Given the description of an element on the screen output the (x, y) to click on. 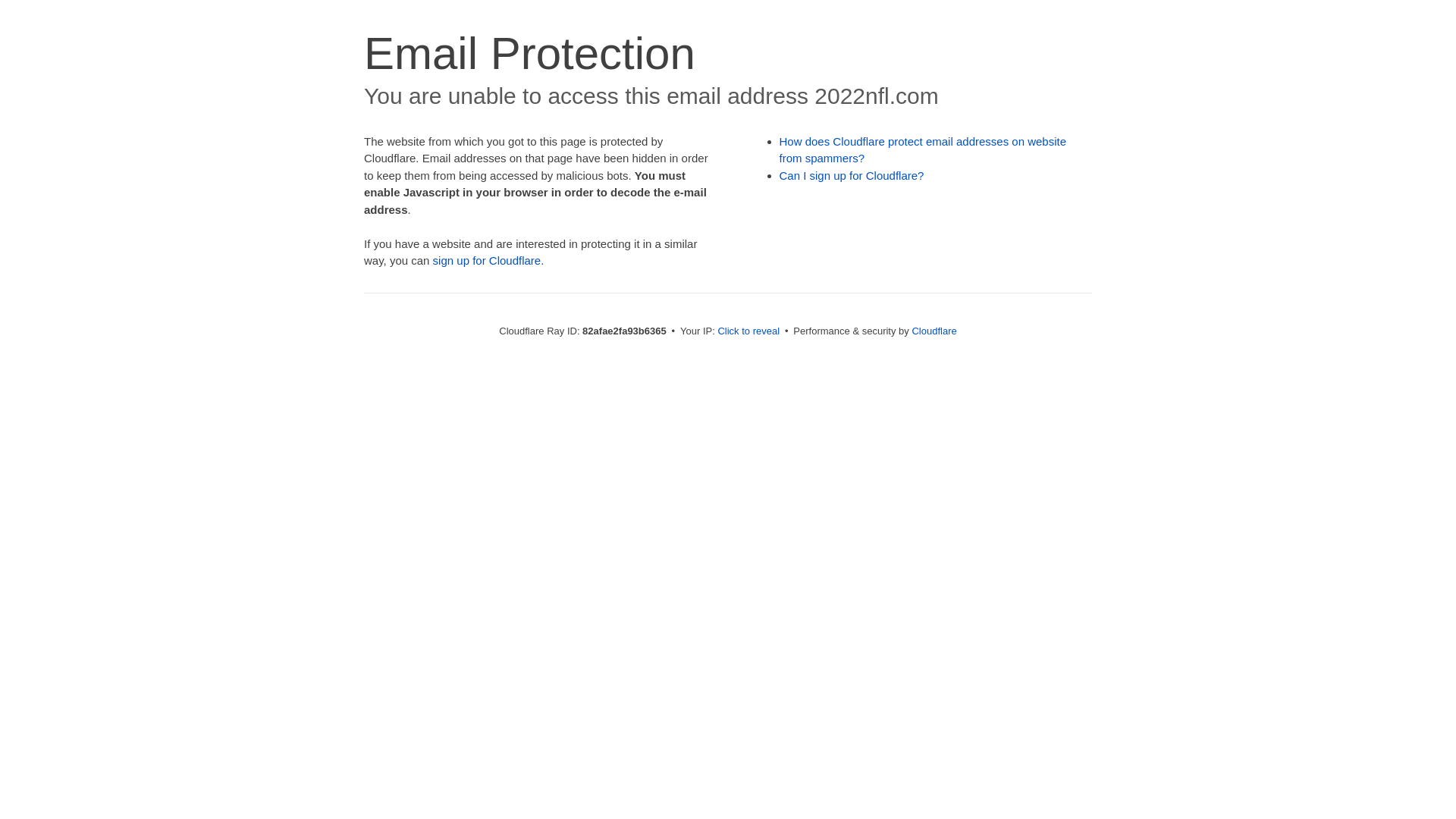
Can I sign up for Cloudflare? Element type: text (851, 175)
sign up for Cloudflare Element type: text (487, 260)
Cloudflare Element type: text (933, 330)
Click to reveal Element type: text (748, 330)
